Given the description of an element on the screen output the (x, y) to click on. 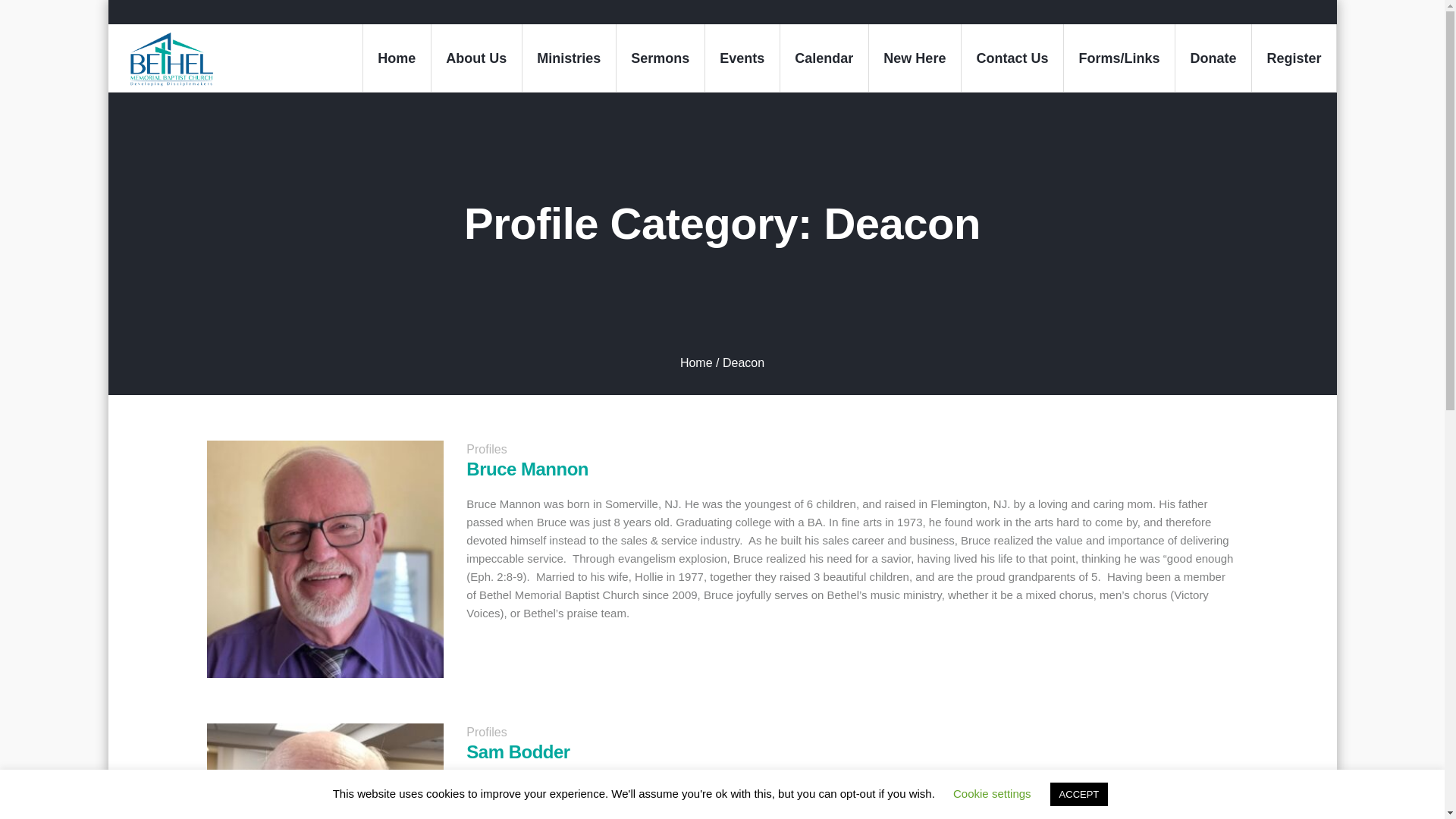
Bruce Mannon (325, 559)
Calendar (822, 57)
Contact Us (1011, 57)
Events (741, 57)
Home (396, 57)
Sam Bodder (325, 771)
Ministries (568, 57)
New Here (913, 57)
Sermons (659, 57)
About Us (475, 57)
